Given the description of an element on the screen output the (x, y) to click on. 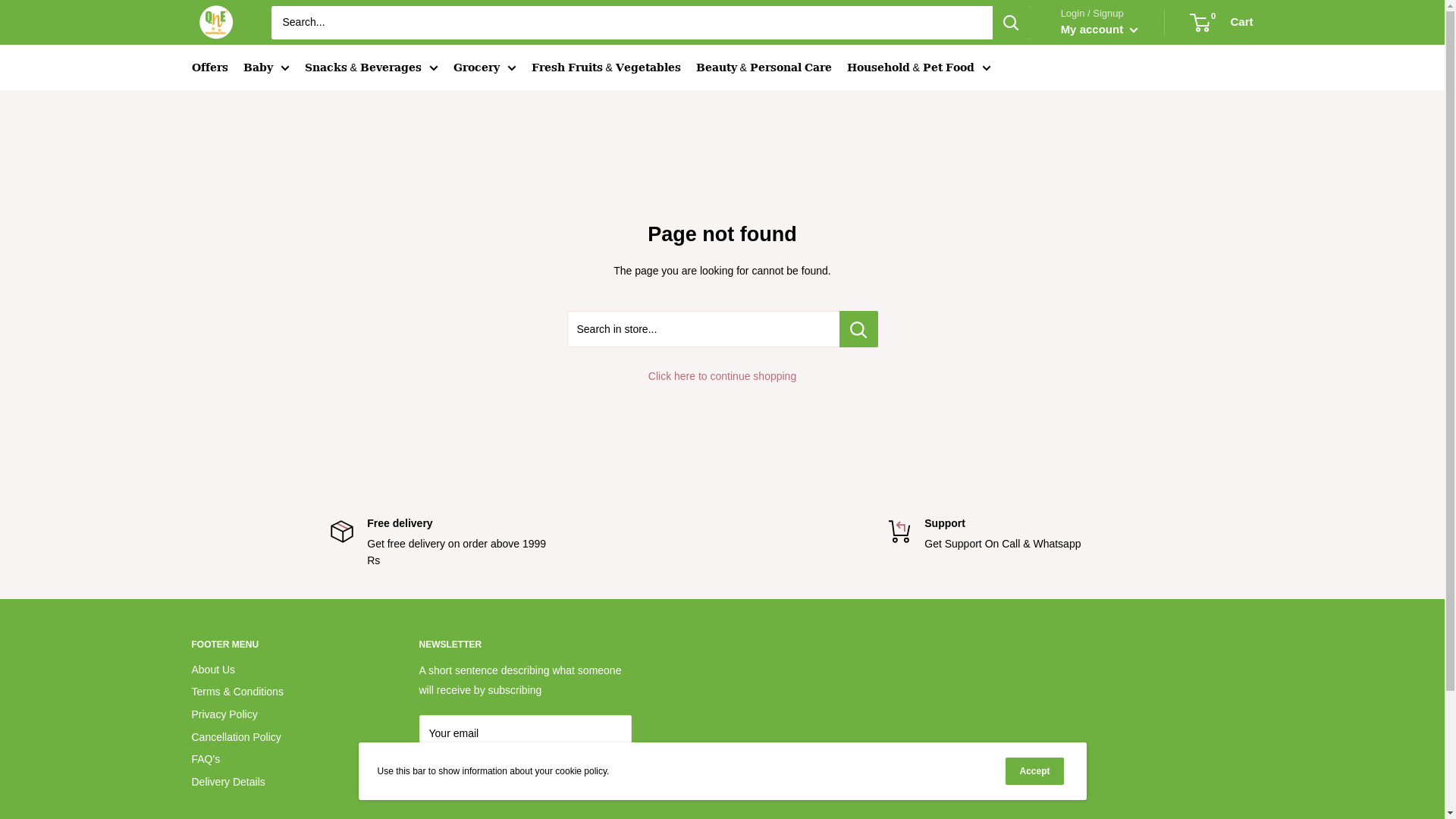
QnE (215, 22)
